Given the description of an element on the screen output the (x, y) to click on. 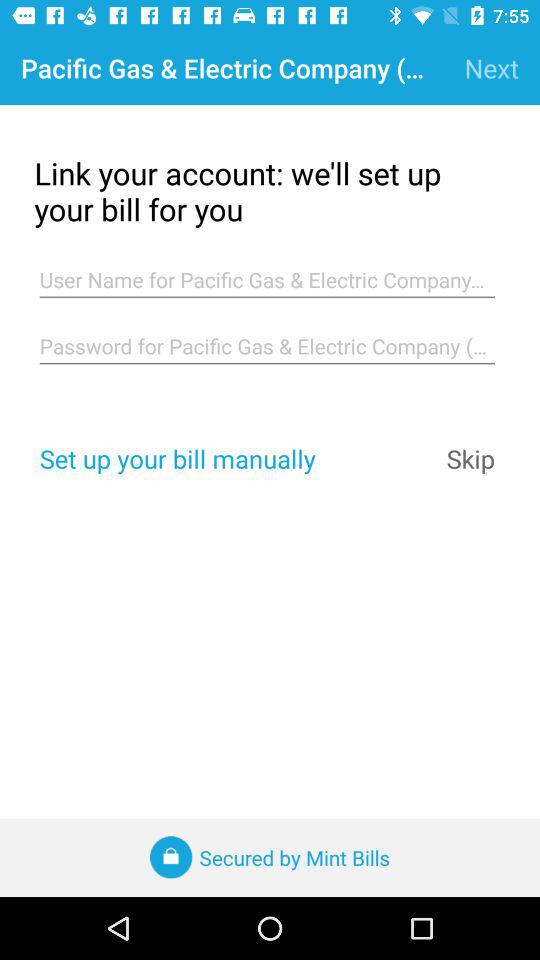
choose the item above the link your account icon (491, 67)
